Given the description of an element on the screen output the (x, y) to click on. 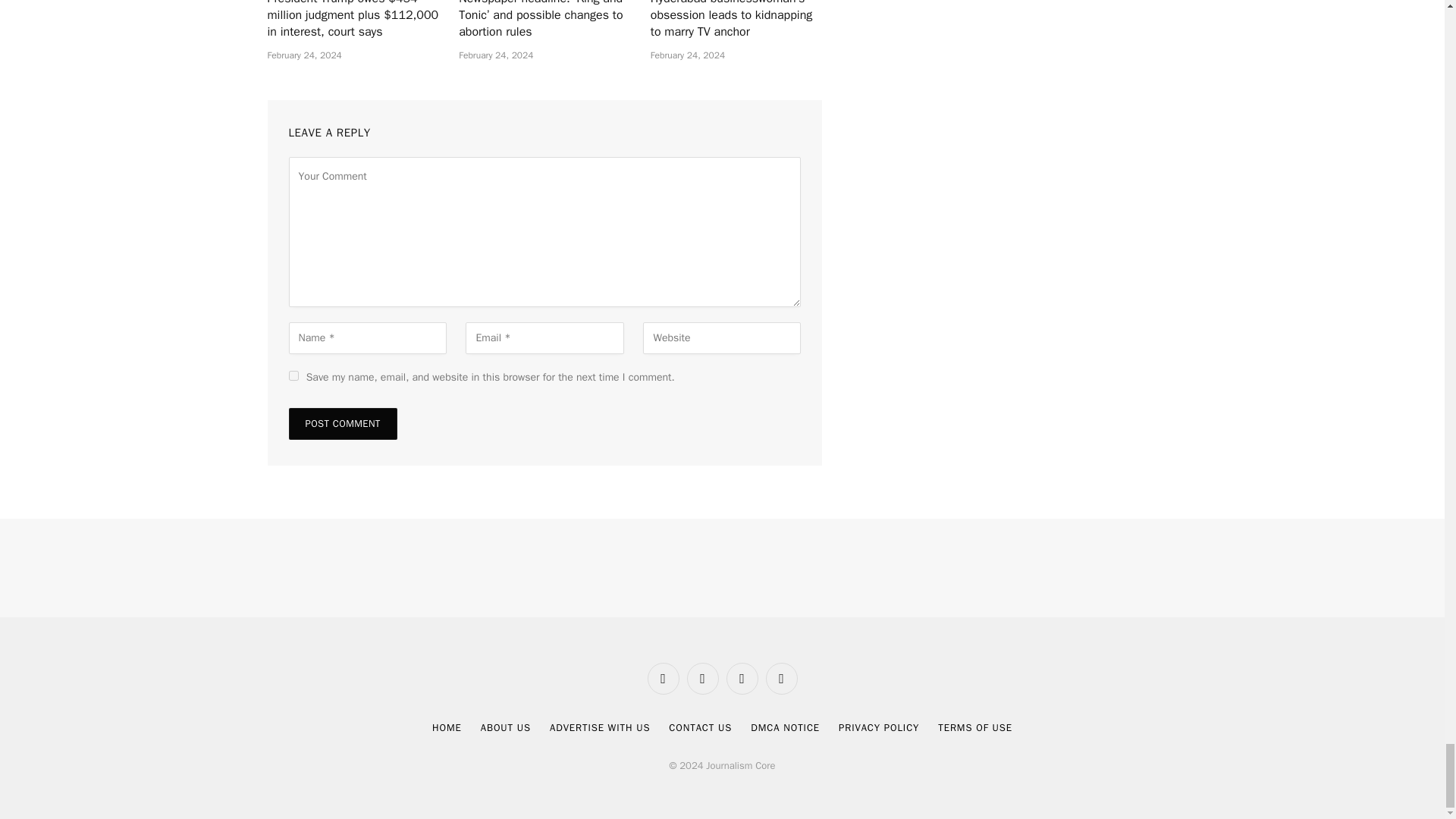
Post Comment (342, 423)
yes (293, 375)
